Given the description of an element on the screen output the (x, y) to click on. 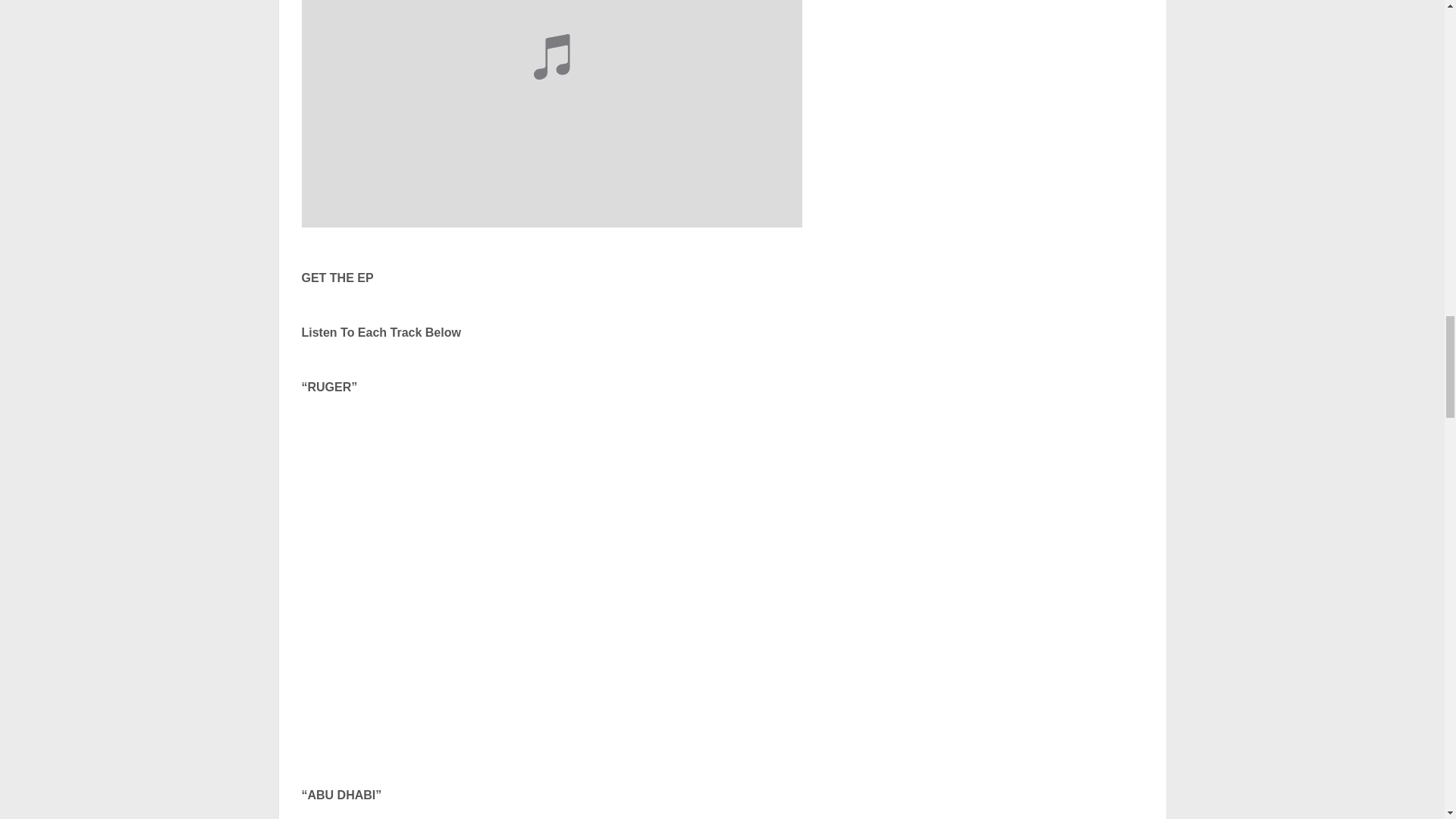
GET THE EP (337, 277)
